Given the description of an element on the screen output the (x, y) to click on. 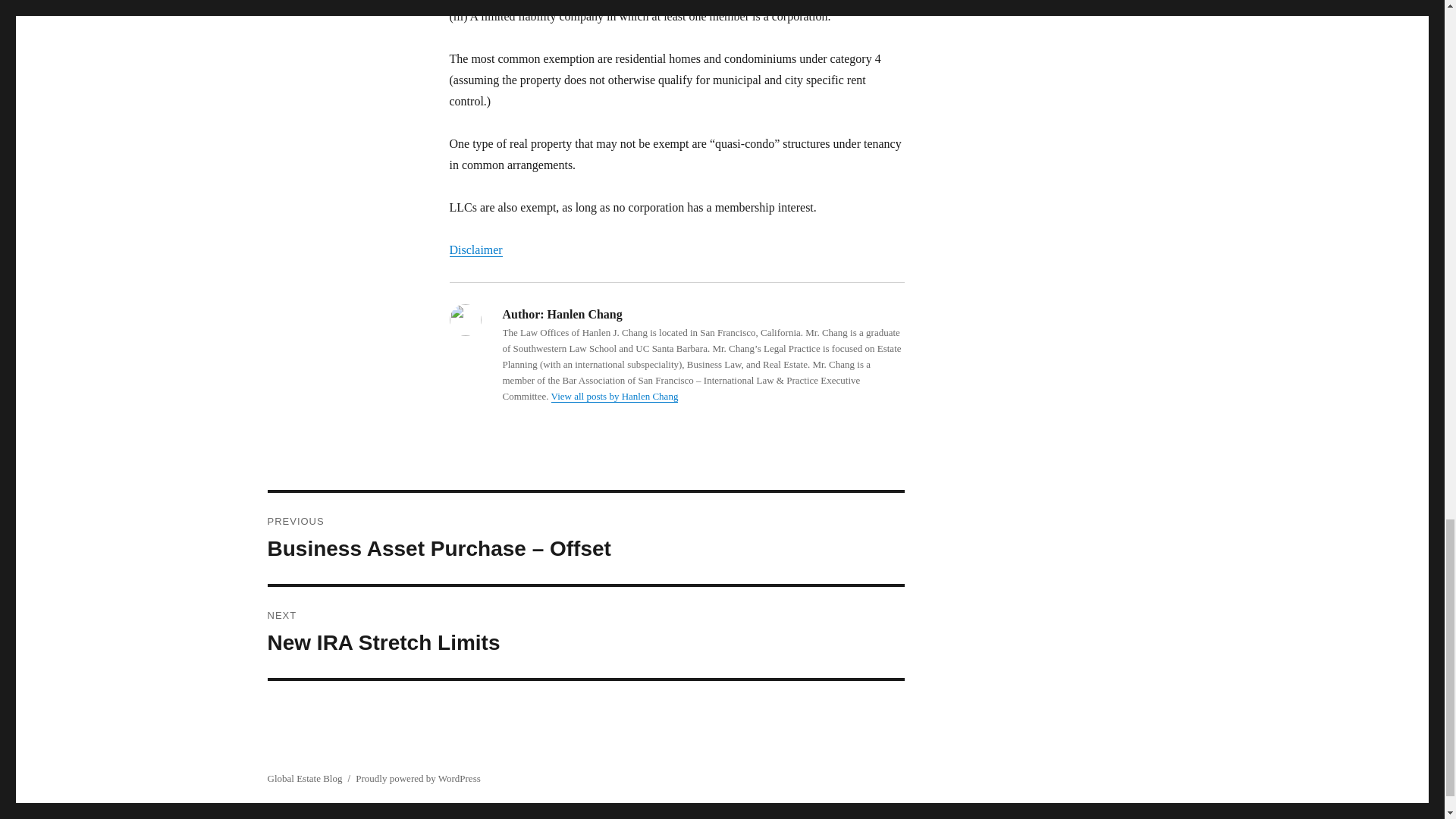
View all posts by Hanlen Chang (585, 632)
Disclaimer (614, 396)
